Given the description of an element on the screen output the (x, y) to click on. 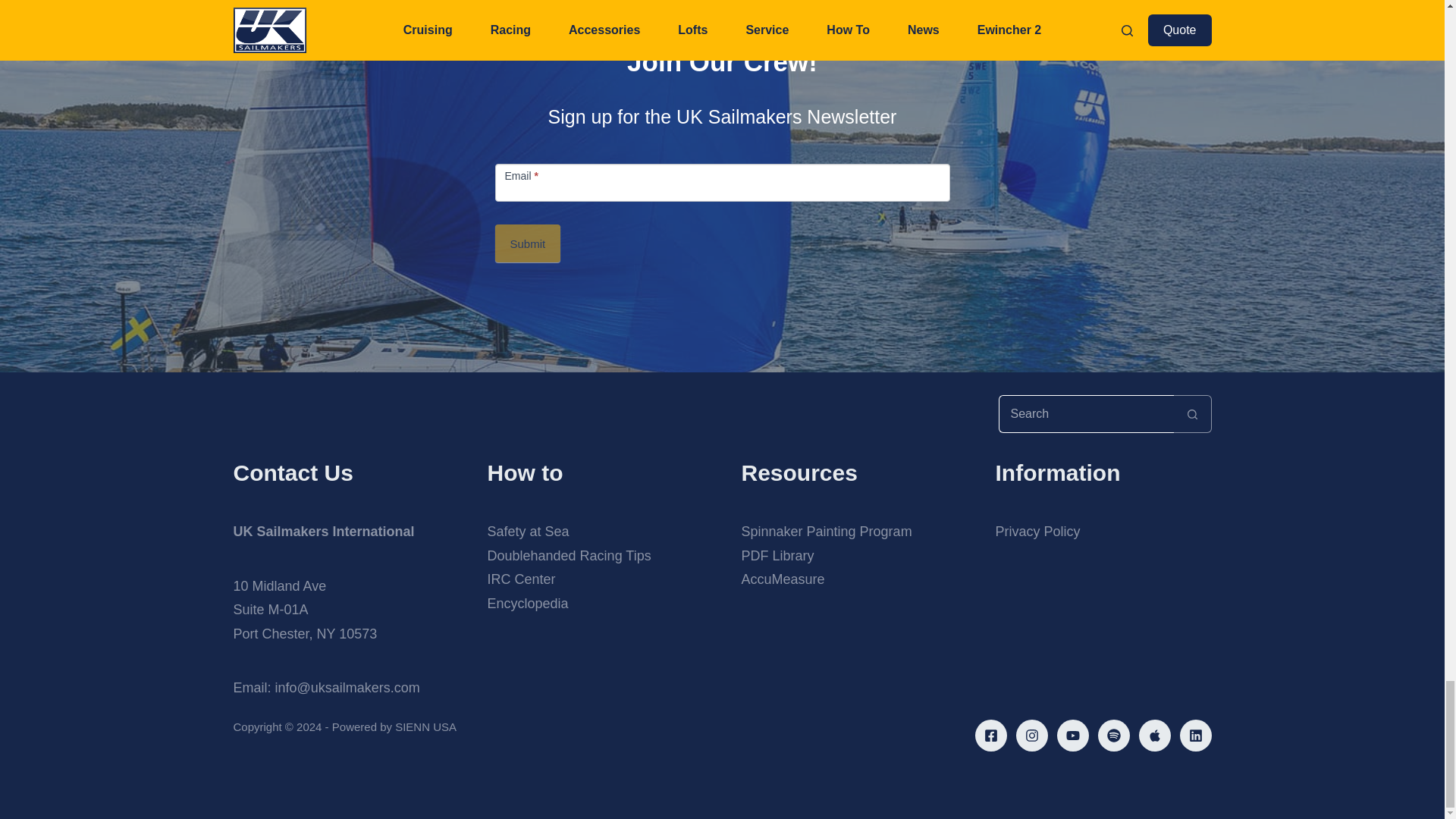
Encyclopedia (526, 603)
Spinnaker Painting Program (304, 609)
PDF Library (826, 531)
Submit (777, 555)
IRC Center (527, 243)
Doublehanded Racing Tips (520, 579)
Safety at Sea (568, 555)
Search for... (527, 531)
